Given the description of an element on the screen output the (x, y) to click on. 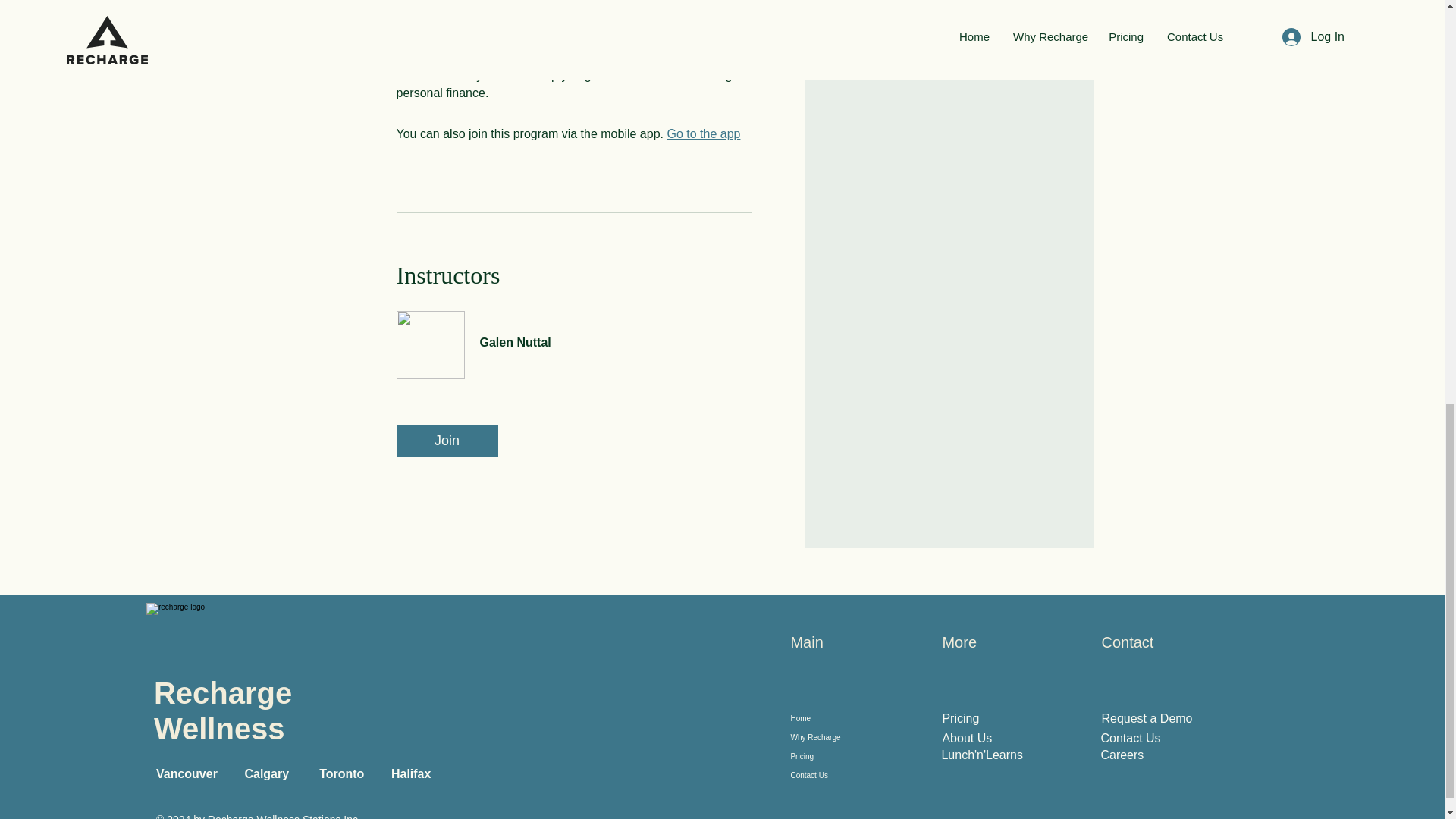
Home (836, 718)
Pricing (960, 717)
Go to the app (702, 133)
Request a Demo (1146, 717)
Galen Nuttal (573, 334)
Lunch'n'Learns (981, 754)
Careers (1121, 754)
Contact Us (1130, 738)
Contact Us (836, 774)
Pricing (836, 755)
Join (446, 441)
About Us (966, 738)
Why Recharge (836, 737)
